Given the description of an element on the screen output the (x, y) to click on. 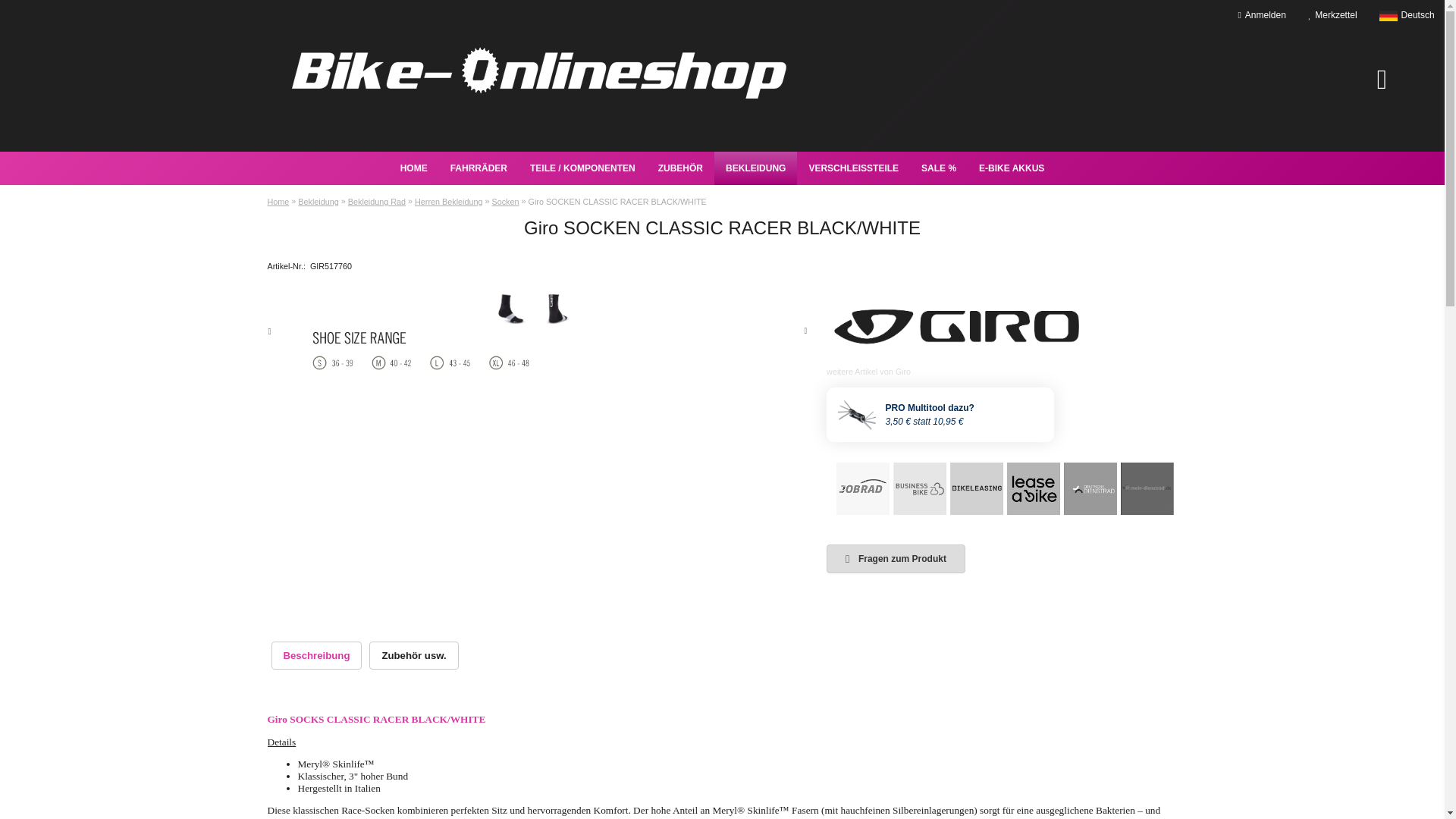
Home (413, 168)
HOME (413, 168)
Merkzettel (1331, 14)
Anmelden (1262, 14)
Zu Ihrem Merkzettel (1331, 14)
Login und Registrierung (1262, 14)
